Given the description of an element on the screen output the (x, y) to click on. 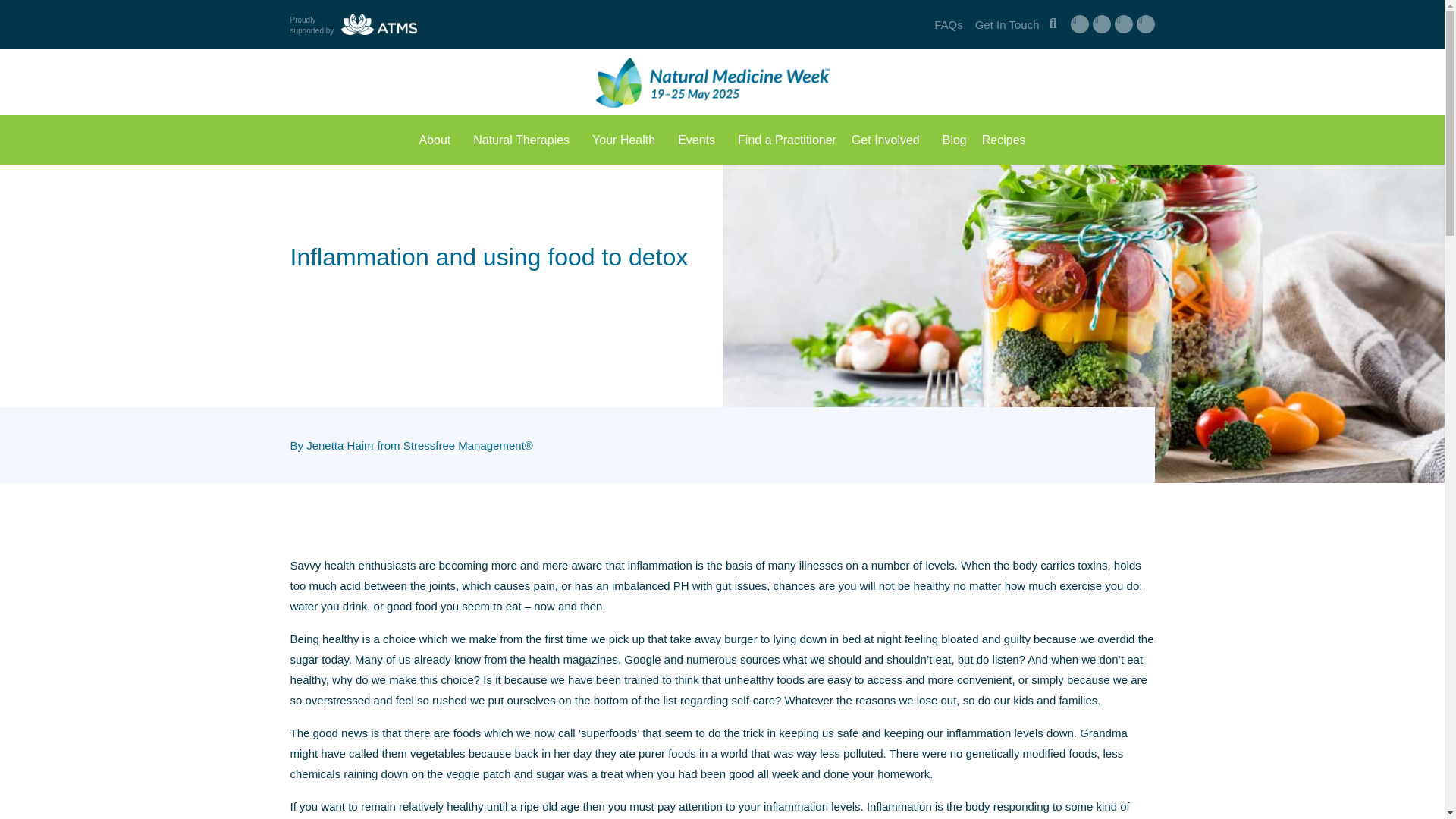
FAQs (948, 23)
Natural Therapies (525, 139)
Get In Touch (1007, 23)
About (437, 139)
